Given the description of an element on the screen output the (x, y) to click on. 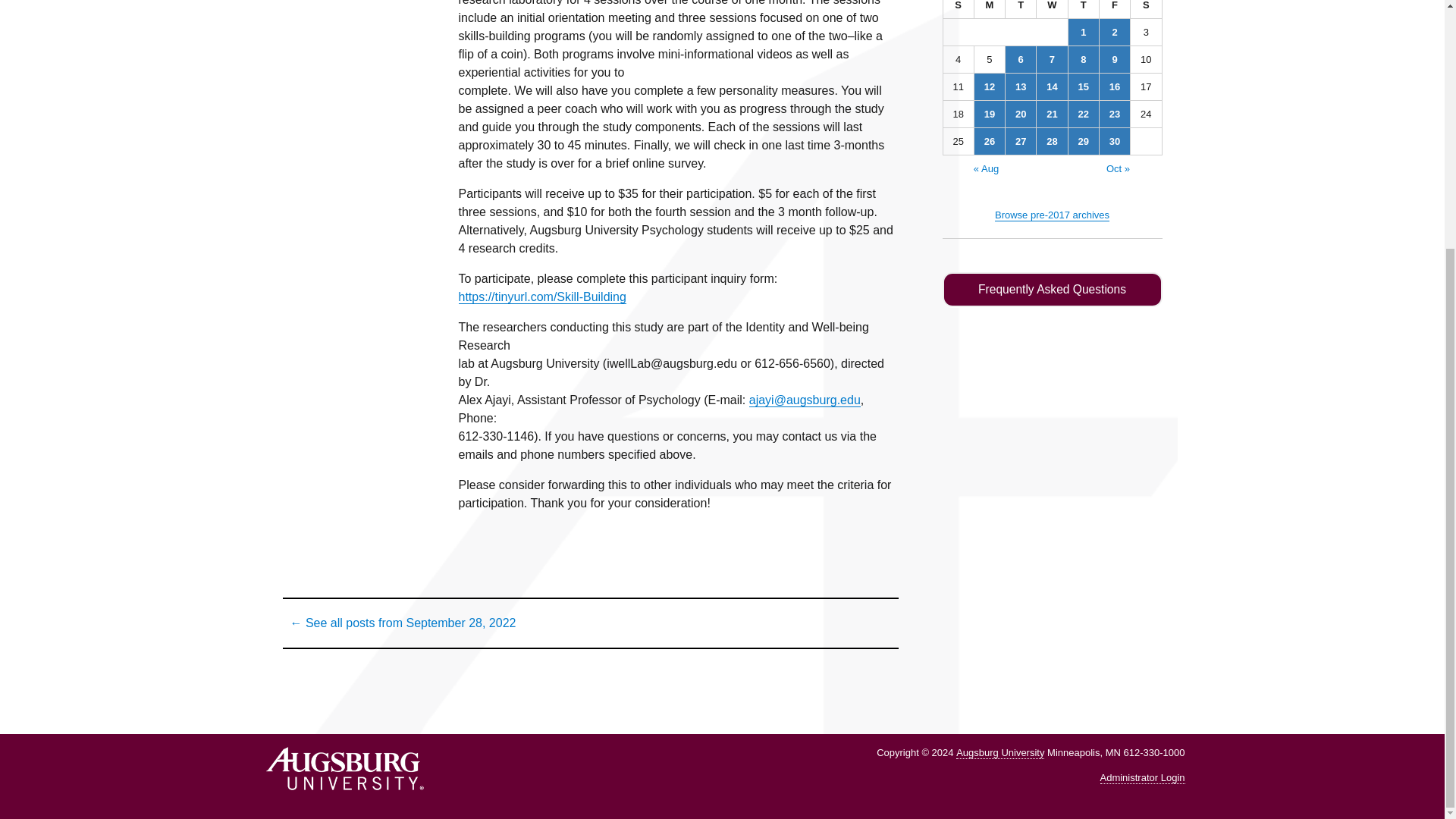
22 (1083, 113)
14 (1051, 86)
Thursday (1083, 9)
20 (1020, 113)
Wednesday (1051, 9)
Tuesday (1021, 9)
8 (1083, 58)
6 (1020, 58)
16 (1114, 86)
Monday (990, 9)
15 (1083, 86)
Sunday (958, 9)
30 (1114, 140)
26 (989, 140)
Friday (1115, 9)
